Given the description of an element on the screen output the (x, y) to click on. 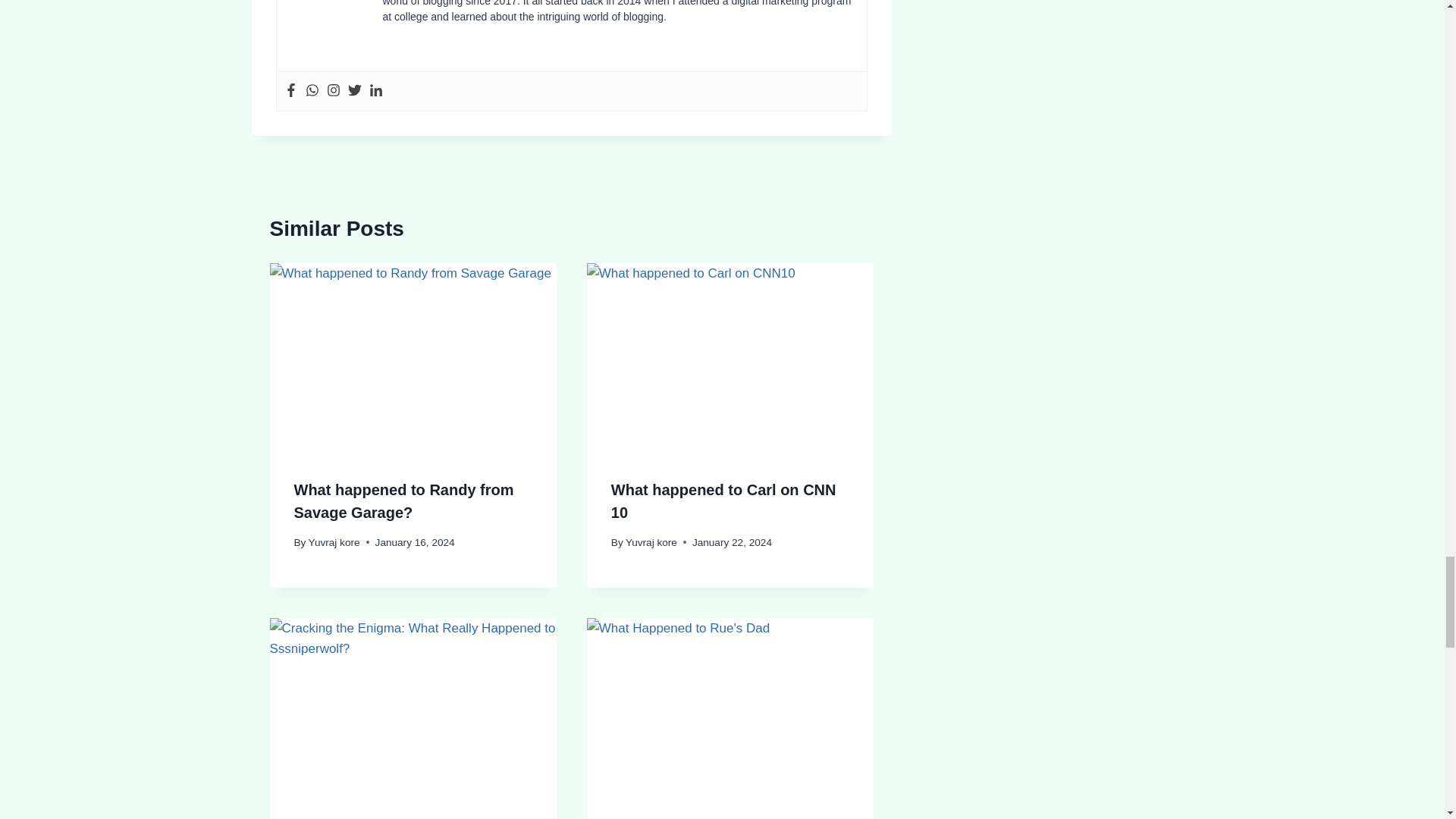
What happened to Carl on CNN 10 (723, 500)
Yuvraj kore (333, 542)
What happened to Randy from Savage Garage? (403, 500)
Yuvraj kore (651, 542)
